Given the description of an element on the screen output the (x, y) to click on. 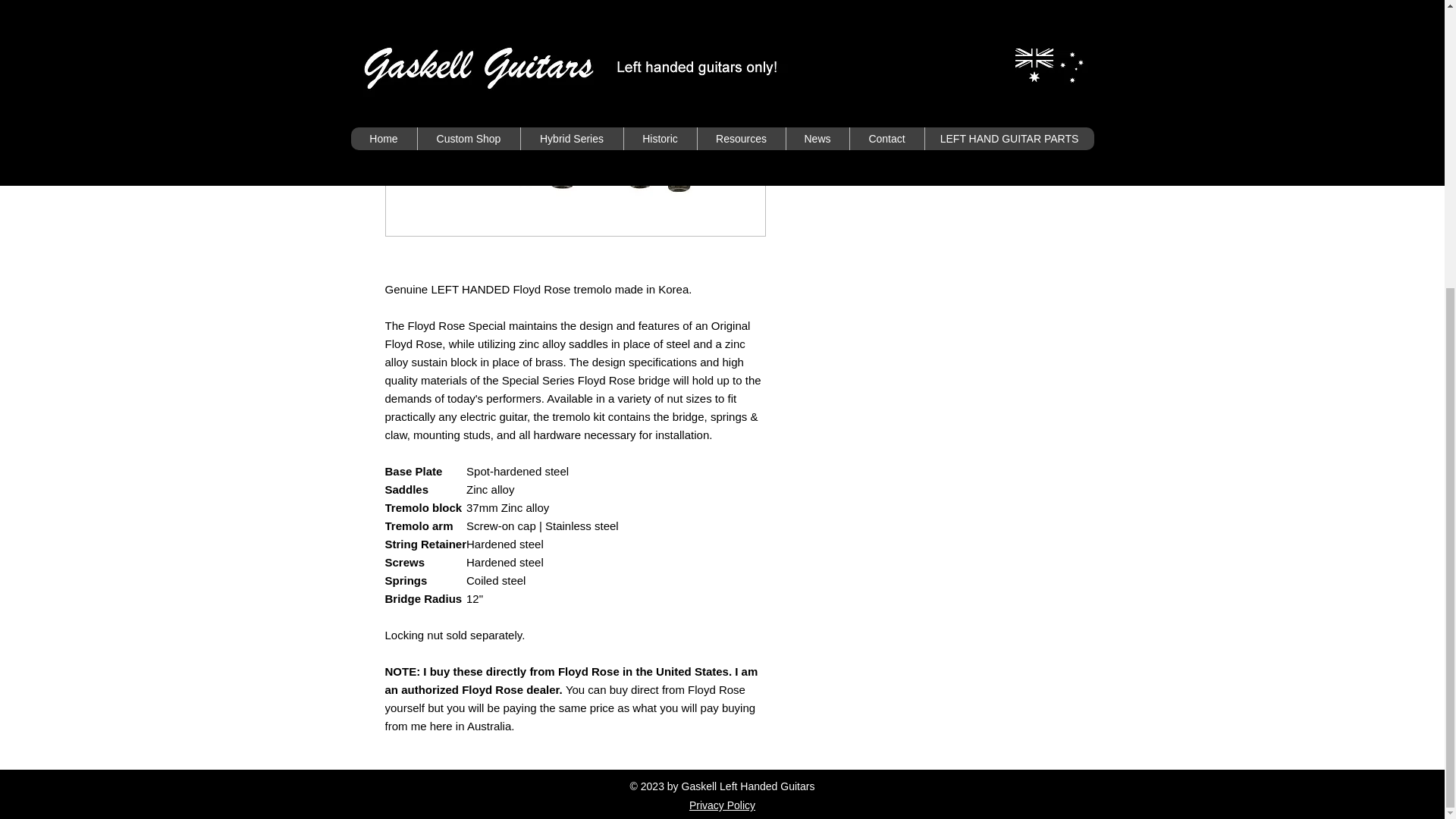
1 (818, 0)
